Given the description of an element on the screen output the (x, y) to click on. 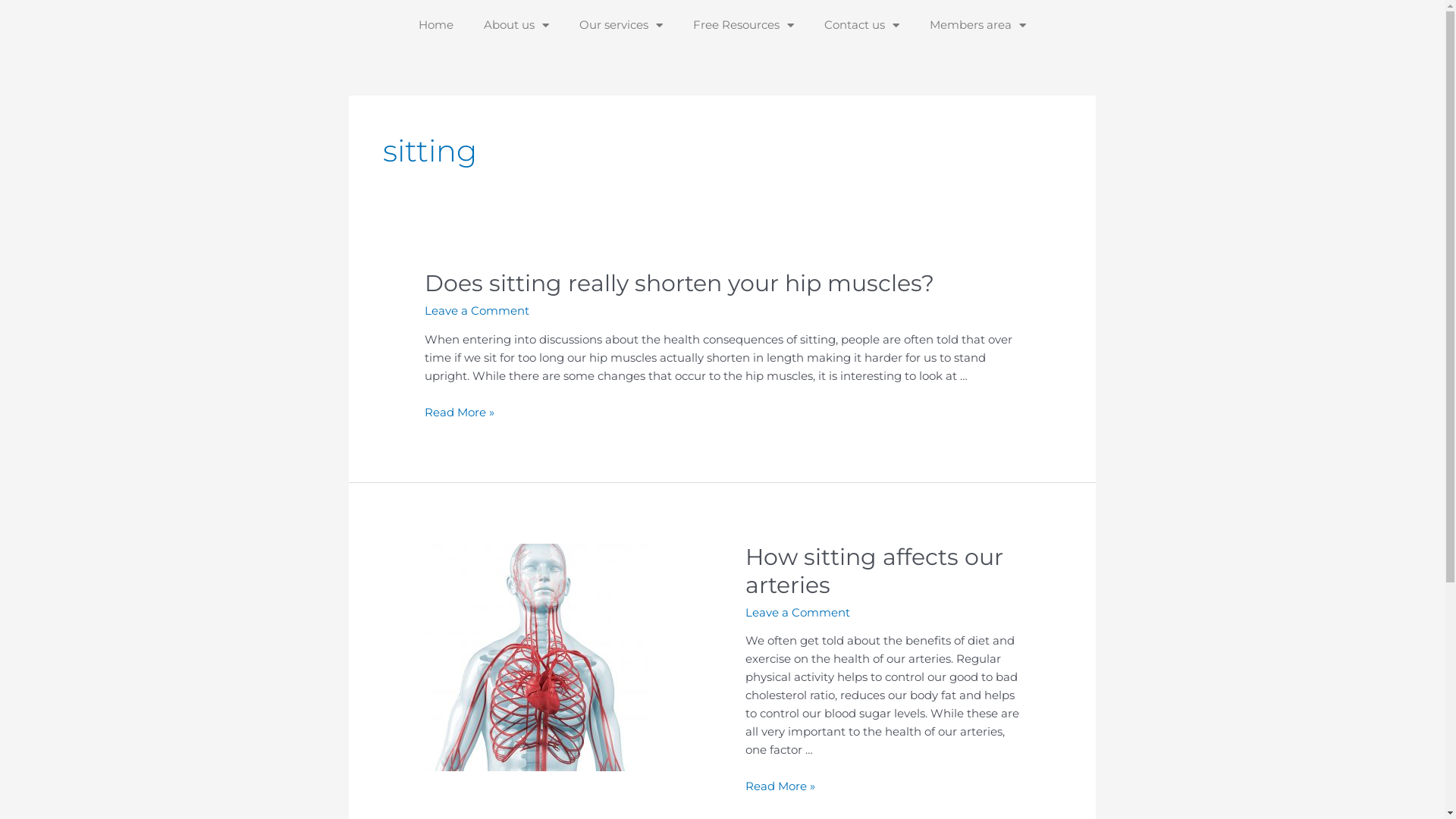
How sitting affects our arteries Element type: text (873, 570)
Contact us Element type: text (861, 24)
Members area Element type: text (977, 24)
Leave a Comment Element type: text (796, 612)
Free Resources Element type: text (743, 24)
Our services Element type: text (620, 24)
Does sitting really shorten your hip muscles? Element type: text (679, 283)
Home Element type: text (435, 24)
Leave a Comment Element type: text (476, 310)
About us Element type: text (516, 24)
